Given the description of an element on the screen output the (x, y) to click on. 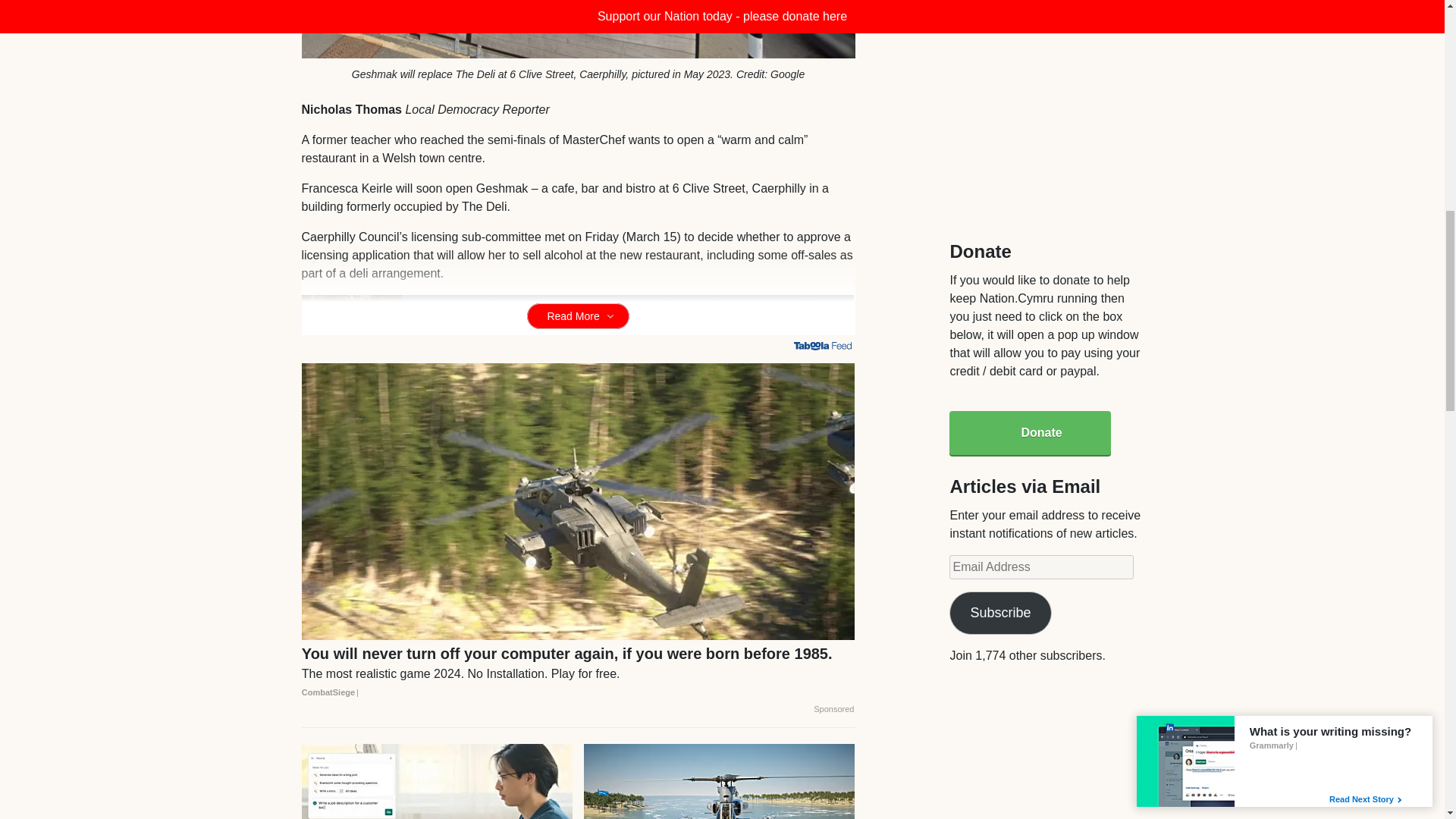
Read More (577, 316)
Sponsored (833, 709)
